Given the description of an element on the screen output the (x, y) to click on. 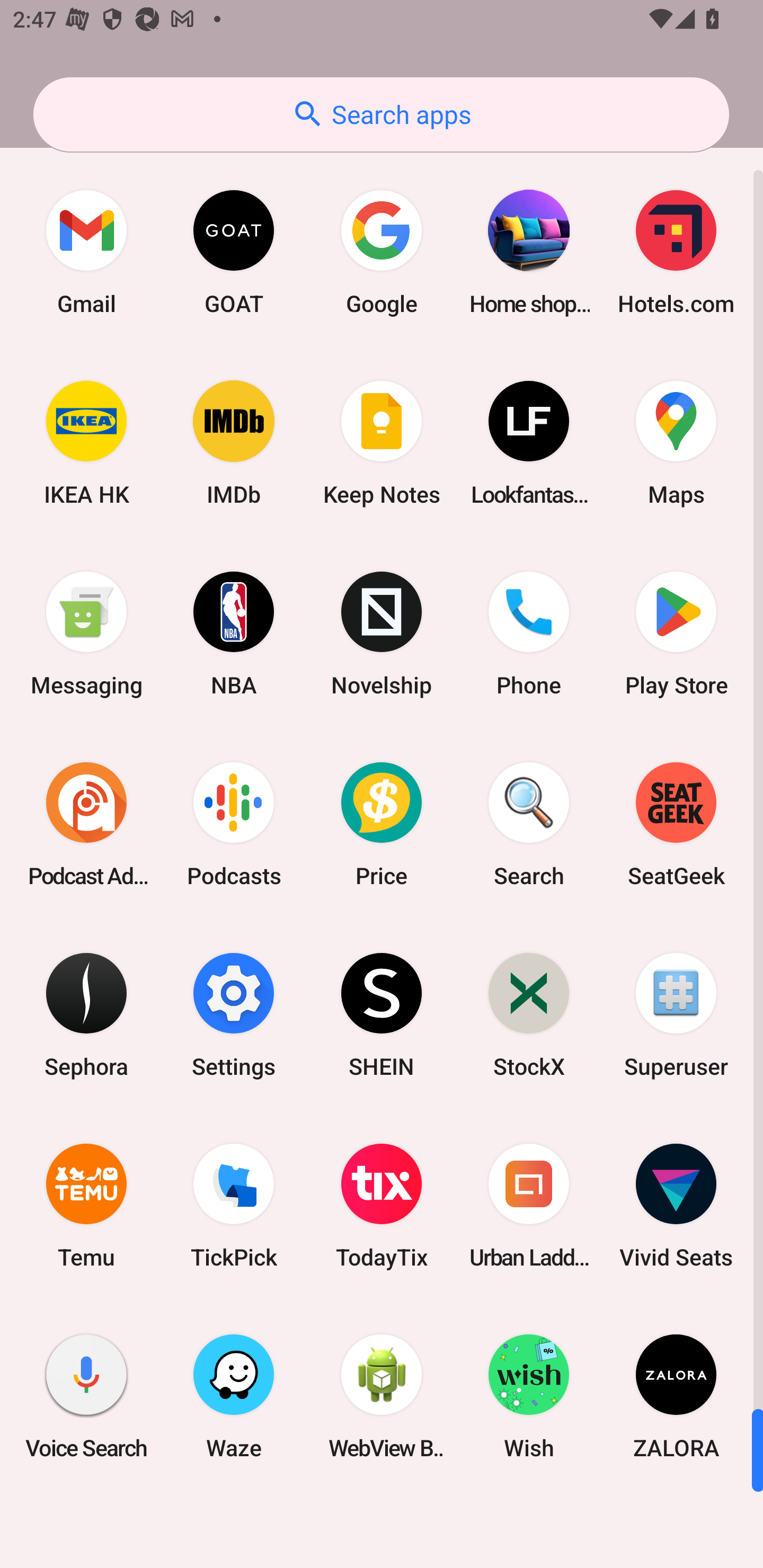
  Search apps (381, 114)
Gmail (86, 252)
GOAT (233, 252)
Google (381, 252)
Home shopping (528, 252)
Hotels.com (676, 252)
IKEA HK (86, 442)
IMDb (233, 442)
Keep Notes (381, 442)
Lookfantastic (528, 442)
Maps (676, 442)
Messaging (86, 633)
NBA (233, 633)
Novelship (381, 633)
Phone (528, 633)
Play Store (676, 633)
Podcast Addict (86, 823)
Podcasts (233, 823)
Price (381, 823)
Search (528, 823)
SeatGeek (676, 823)
Sephora (86, 1014)
Settings (233, 1014)
SHEIN (381, 1014)
StockX (528, 1014)
Superuser (676, 1014)
Temu (86, 1205)
TickPick (233, 1205)
TodayTix (381, 1205)
Urban Ladder (528, 1205)
Vivid Seats (676, 1205)
Voice Search (86, 1396)
Waze (233, 1396)
WebView Browser Tester (381, 1396)
Wish (528, 1396)
ZALORA (676, 1396)
